Given the description of an element on the screen output the (x, y) to click on. 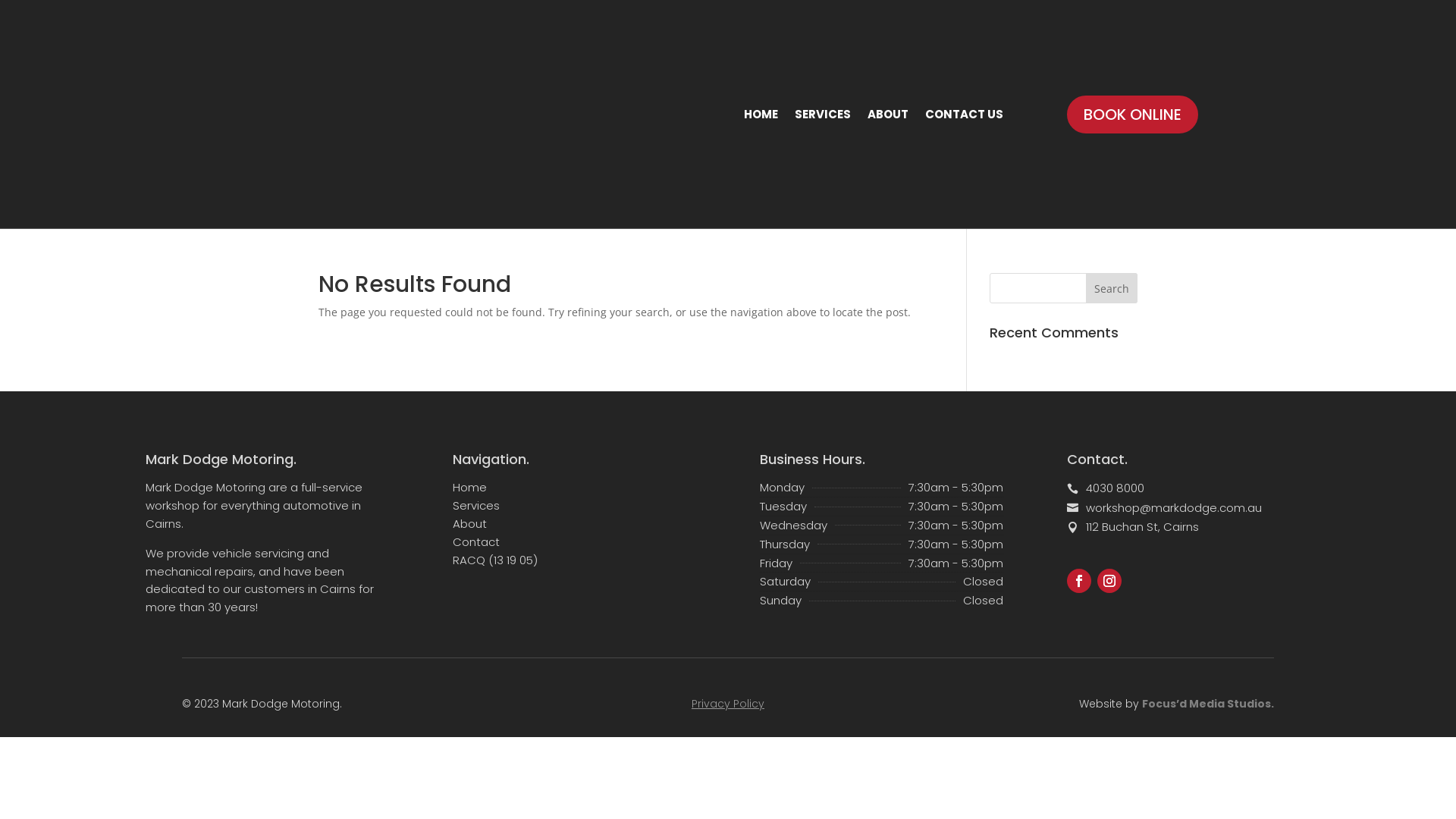
Contact Element type: text (475, 541)
RACQ Element type: text (468, 559)
Privacy Policy Element type: text (727, 703)
Services Element type: text (475, 505)
BOOK ONLINE Element type: text (1132, 114)
ABOUT Element type: text (887, 113)
SERVICES Element type: text (822, 113)
CONTACT US Element type: text (964, 113)
Follow on Instagram Element type: hover (1109, 580)
About Element type: text (469, 523)
Search Element type: text (1111, 288)
Home Element type: text (469, 487)
HOME Element type: text (760, 113)
Follow on Facebook Element type: hover (1078, 580)
